Given the description of an element on the screen output the (x, y) to click on. 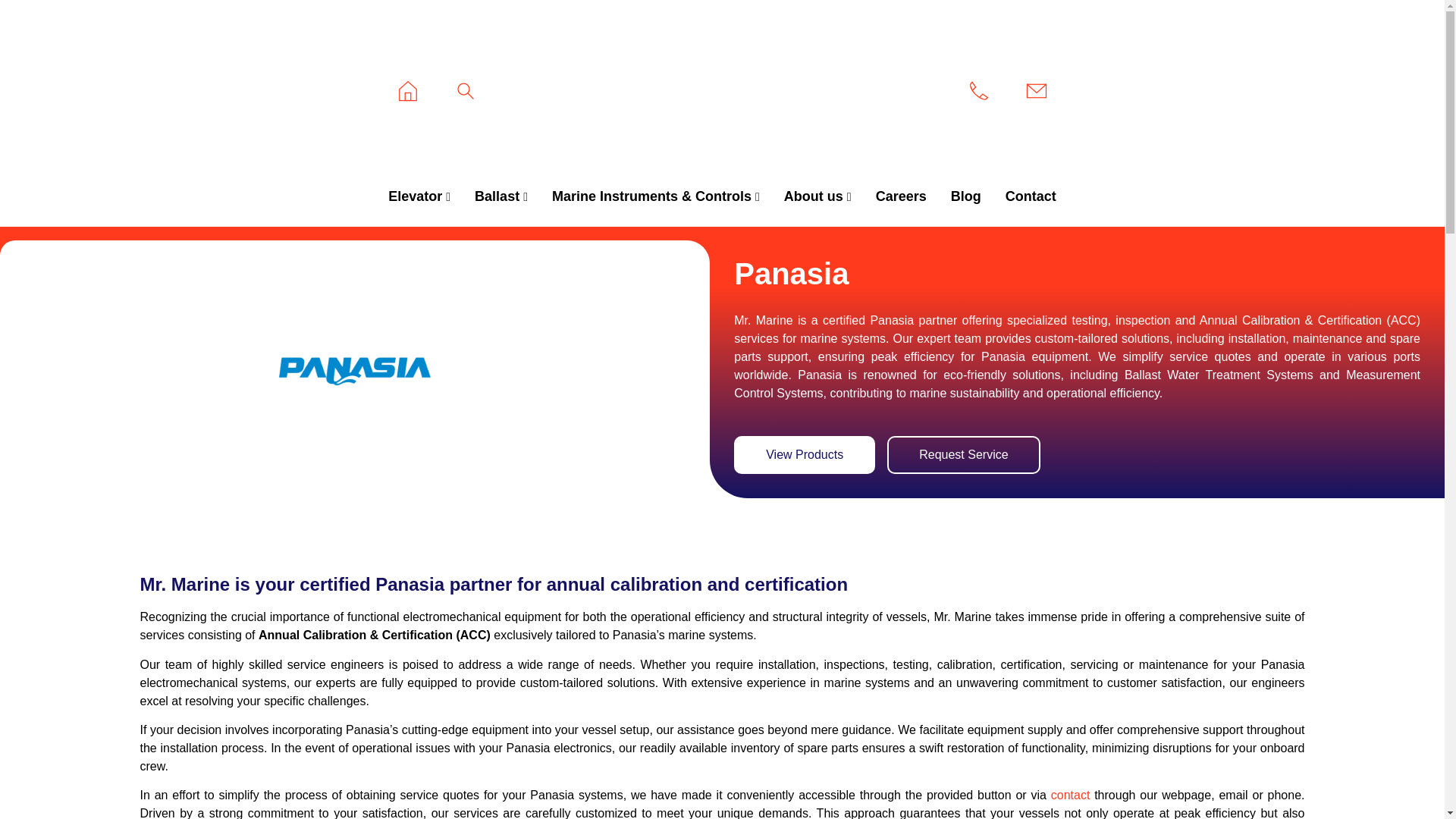
Elevator (419, 196)
Ballast (501, 196)
